Given the description of an element on the screen output the (x, y) to click on. 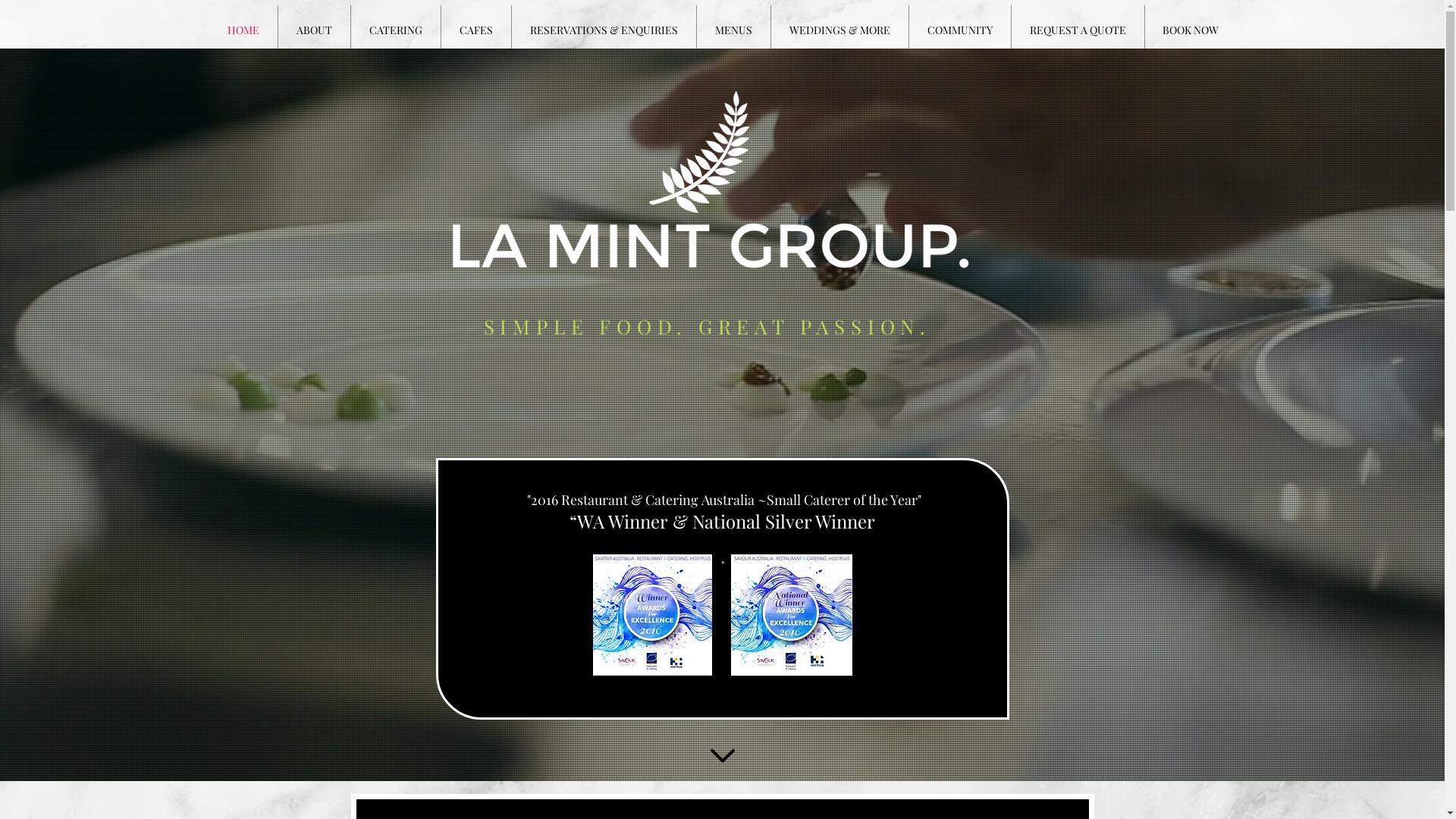
REQUEST A QUOTE Element type: text (1077, 30)
BOOK NOW Element type: text (1190, 30)
CAFES Element type: text (476, 30)
MENUS Element type: text (732, 30)
HOME Element type: text (243, 30)
RESERVATIONS & ENQUIRIES Element type: text (603, 30)
ABOUT Element type: text (313, 30)
COMMUNITY Element type: text (959, 30)
